Given the description of an element on the screen output the (x, y) to click on. 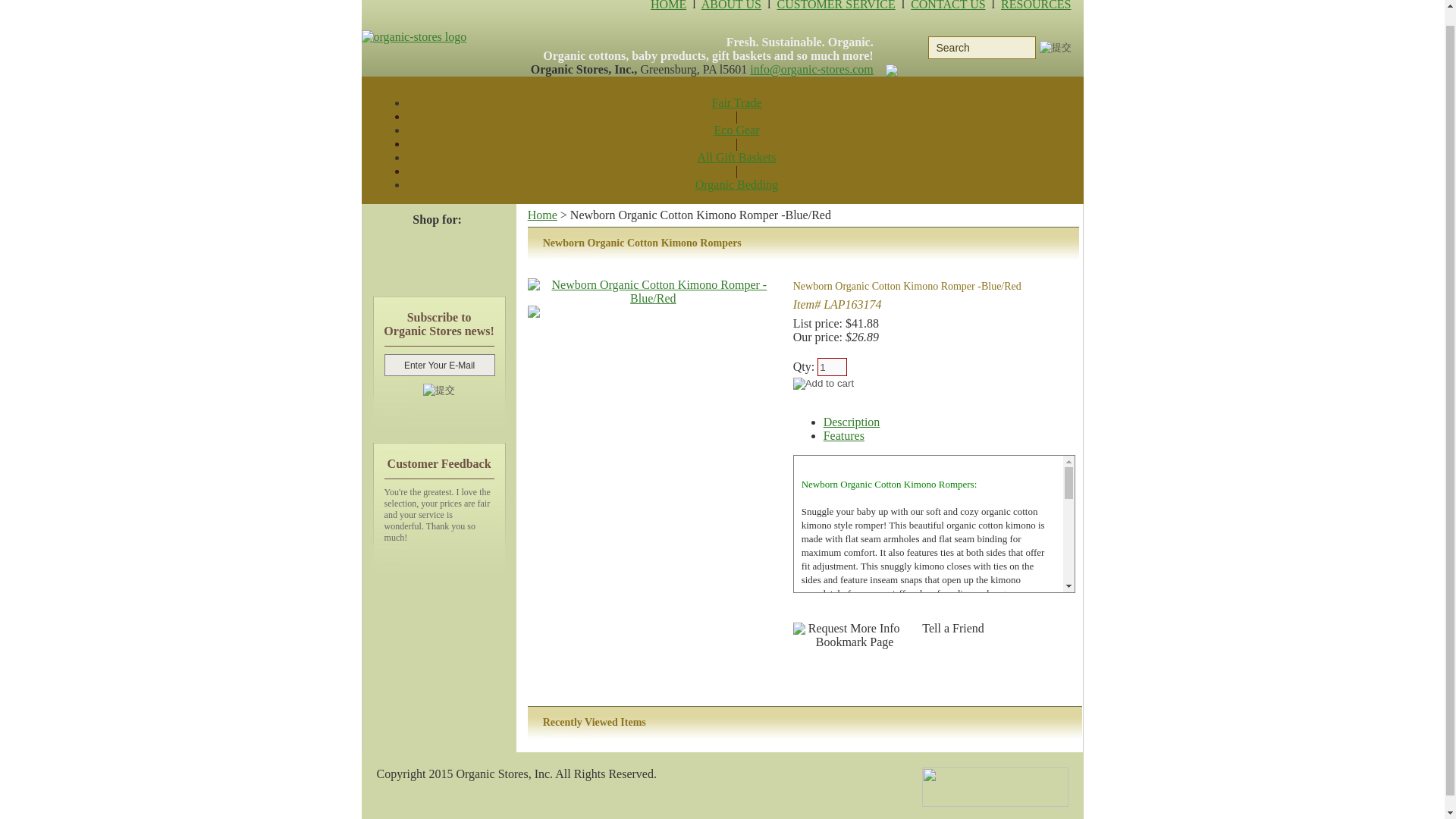
Enter Your E-Mail (439, 364)
Fair Trade (736, 102)
CONTACT US (948, 5)
1 (831, 366)
Search (981, 47)
Add to cart (823, 383)
HOME (667, 5)
All Gift Baskets (736, 156)
Eco Gear (737, 129)
Organic Bedding (736, 184)
